Given the description of an element on the screen output the (x, y) to click on. 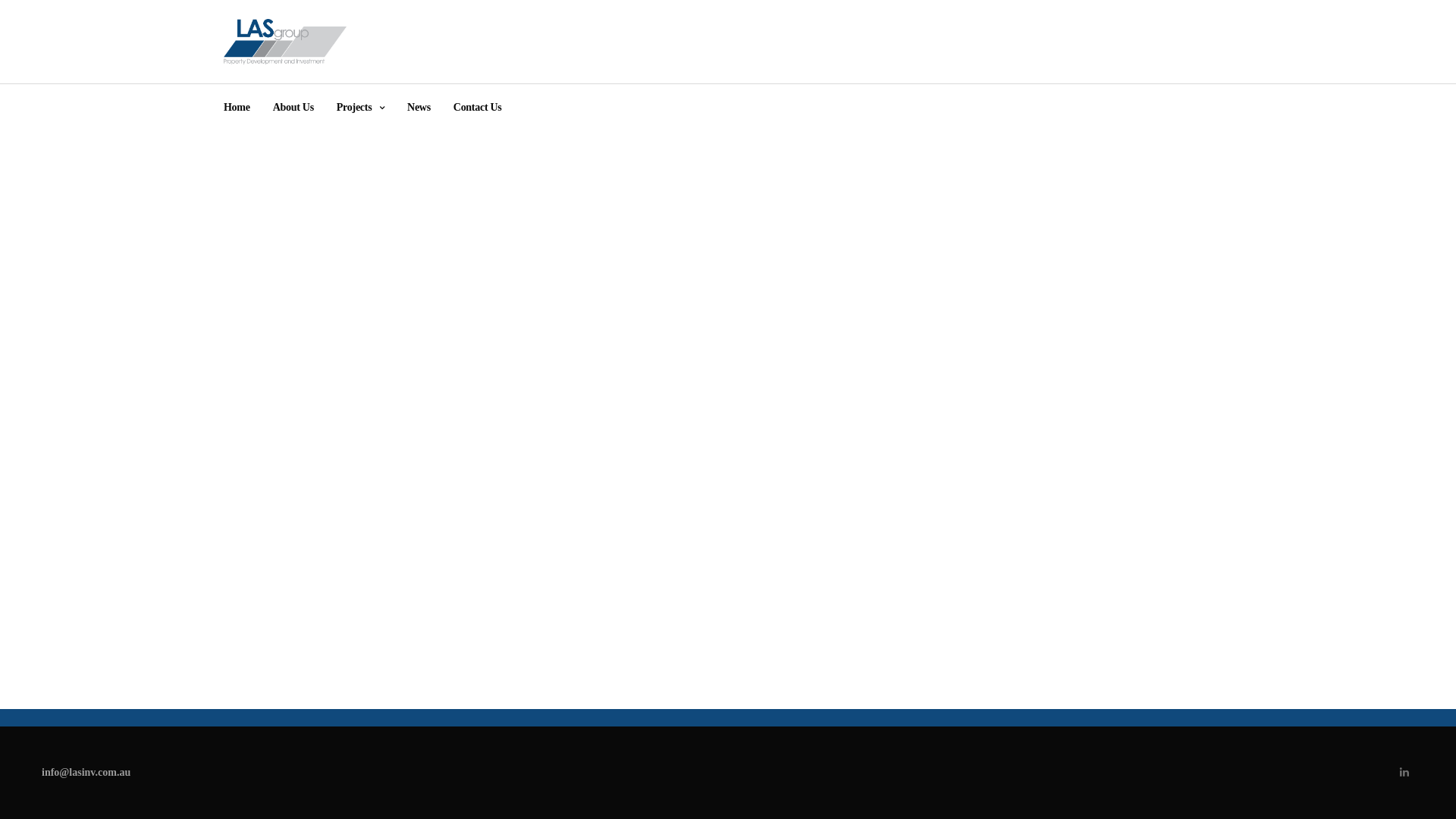
info@lasinv.com.au Element type: text (85, 772)
Projects Element type: text (360, 107)
LAS Group Element type: hover (284, 41)
News Element type: text (418, 107)
About Us Element type: text (293, 107)
Contact Us Element type: text (477, 107)
Home Element type: text (236, 107)
